Given the description of an element on the screen output the (x, y) to click on. 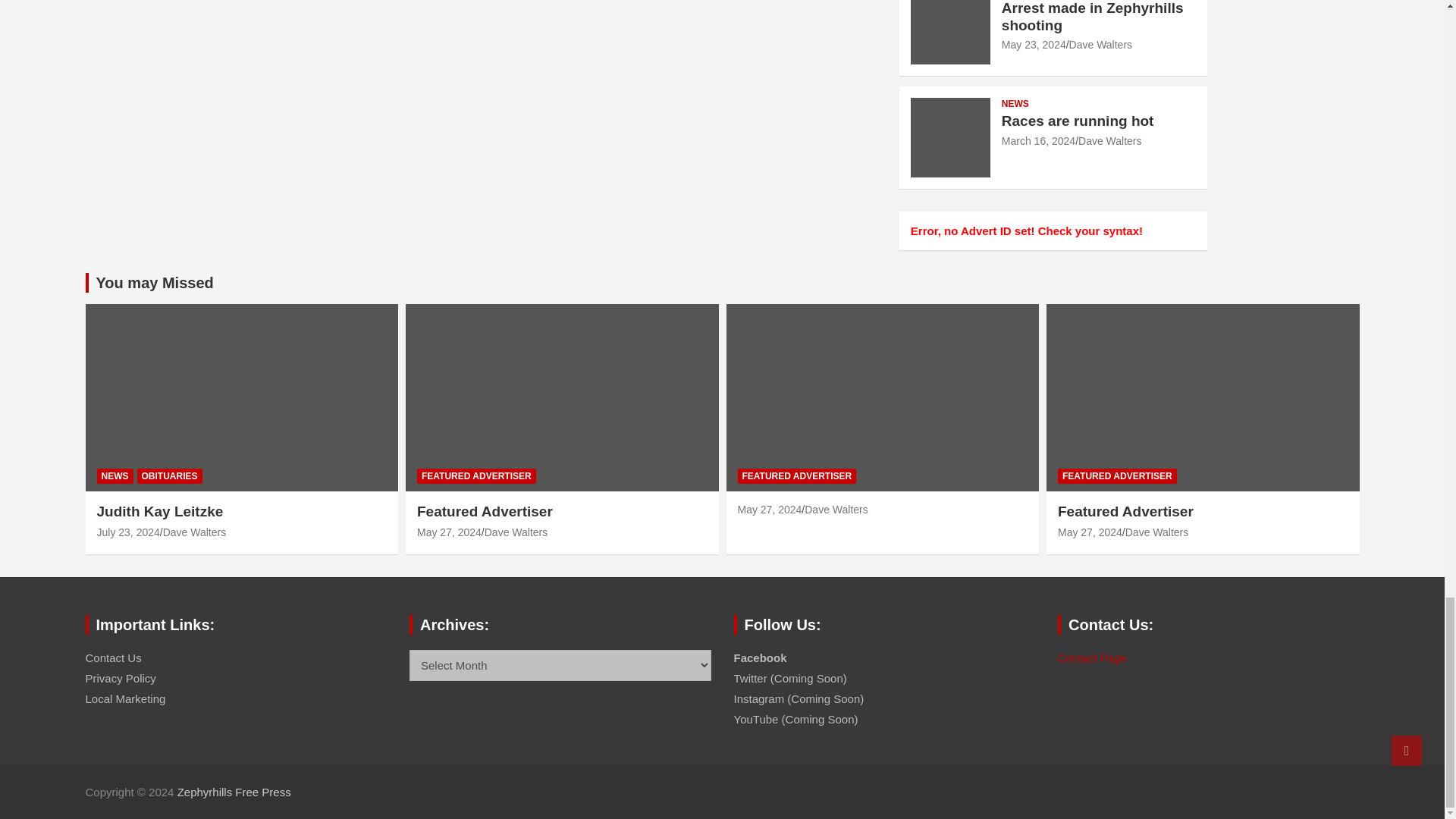
Judith Kay Leitzke (128, 532)
Races are running hot (1038, 141)
Featured Advertiser (448, 532)
Arrest made in Zephyrhills shooting (1033, 44)
Featured Advertiser (1090, 532)
Zephyrhills Free Press (234, 791)
